Given the description of an element on the screen output the (x, y) to click on. 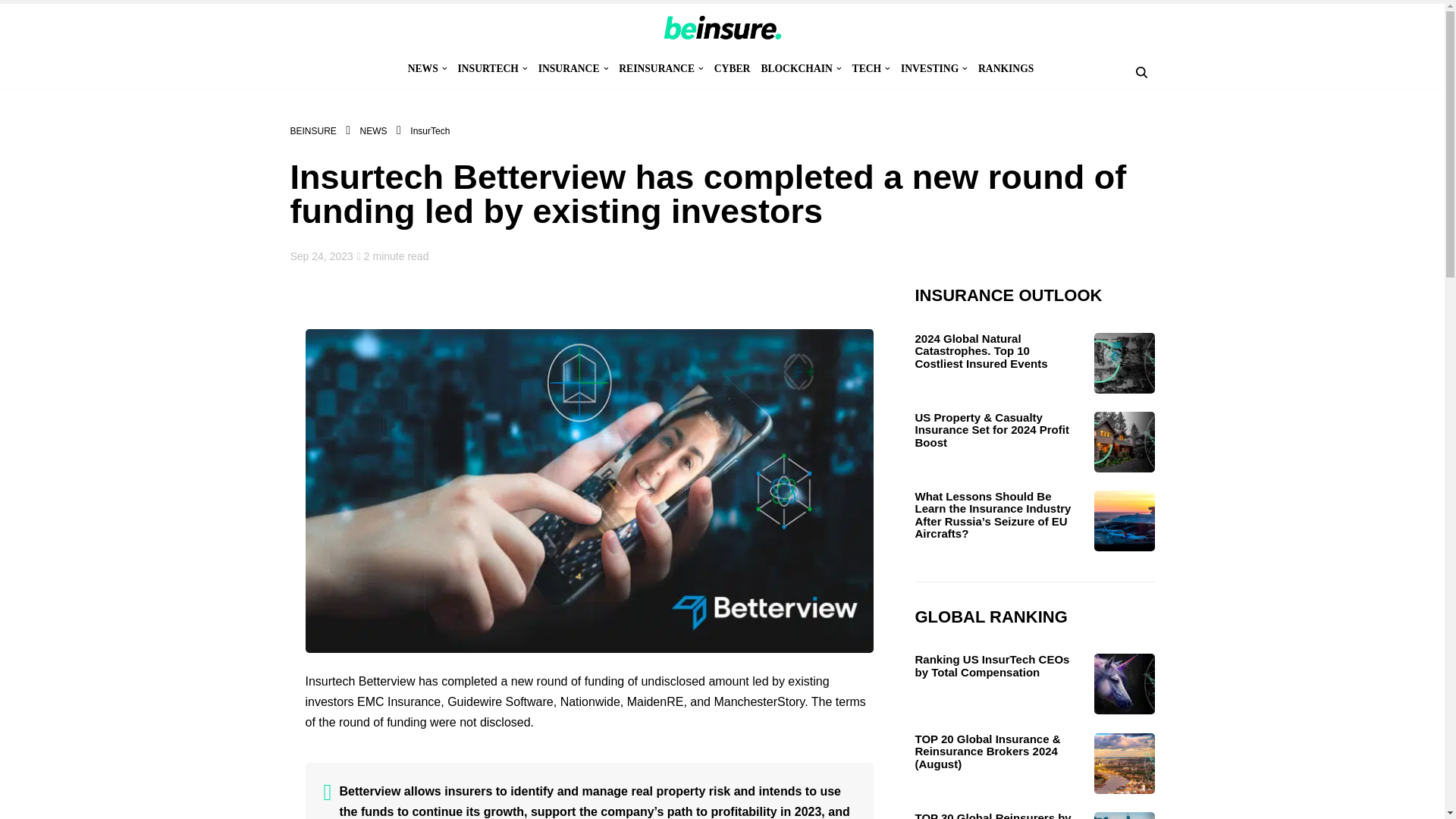
BLOCKCHAIN (795, 68)
REINSURANCE (656, 68)
NEWS (422, 68)
TECH (866, 68)
INSURTECH (488, 68)
INSURANCE (568, 68)
Skip to content (11, 31)
CYBER (732, 68)
